Given the description of an element on the screen output the (x, y) to click on. 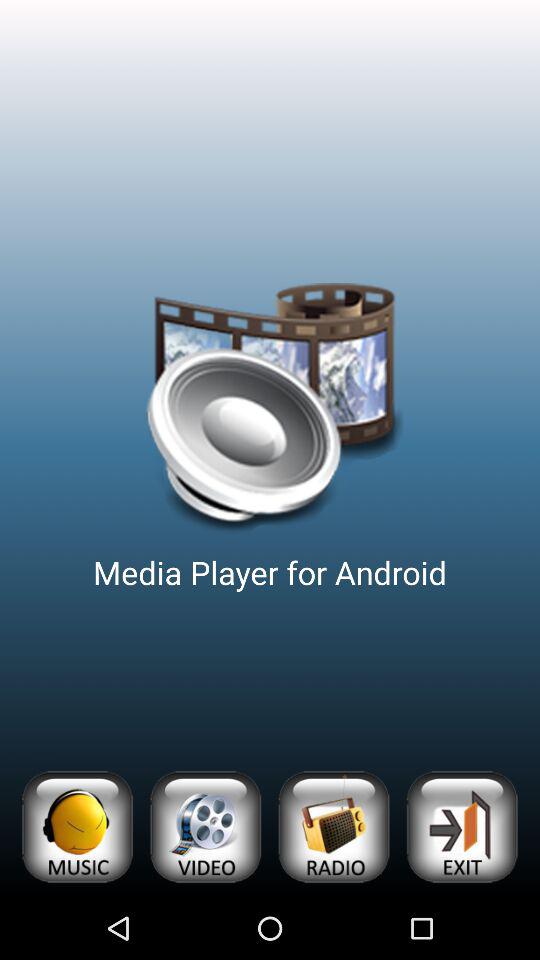
open videos (205, 826)
